Given the description of an element on the screen output the (x, y) to click on. 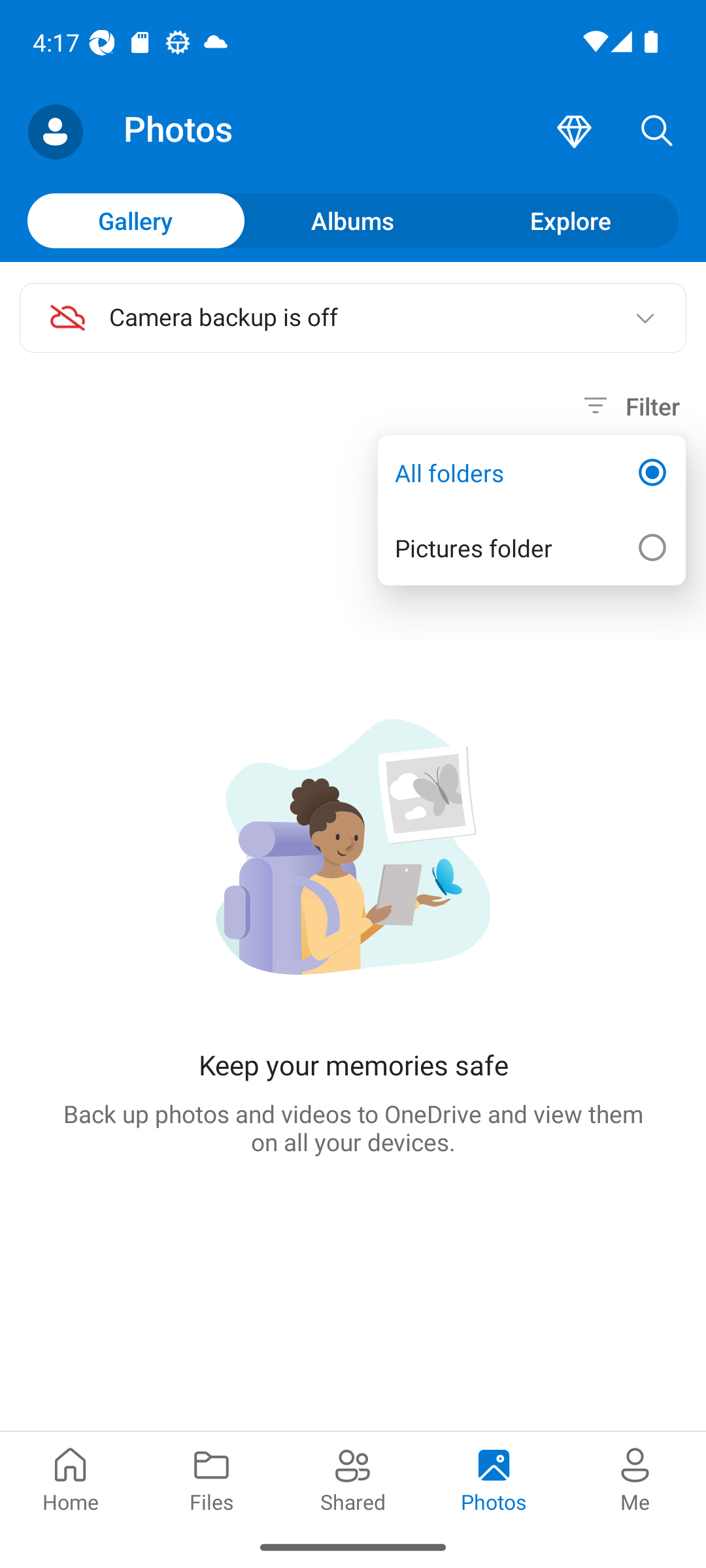
All folders (531, 472)
Pictures folder (531, 546)
